Given the description of an element on the screen output the (x, y) to click on. 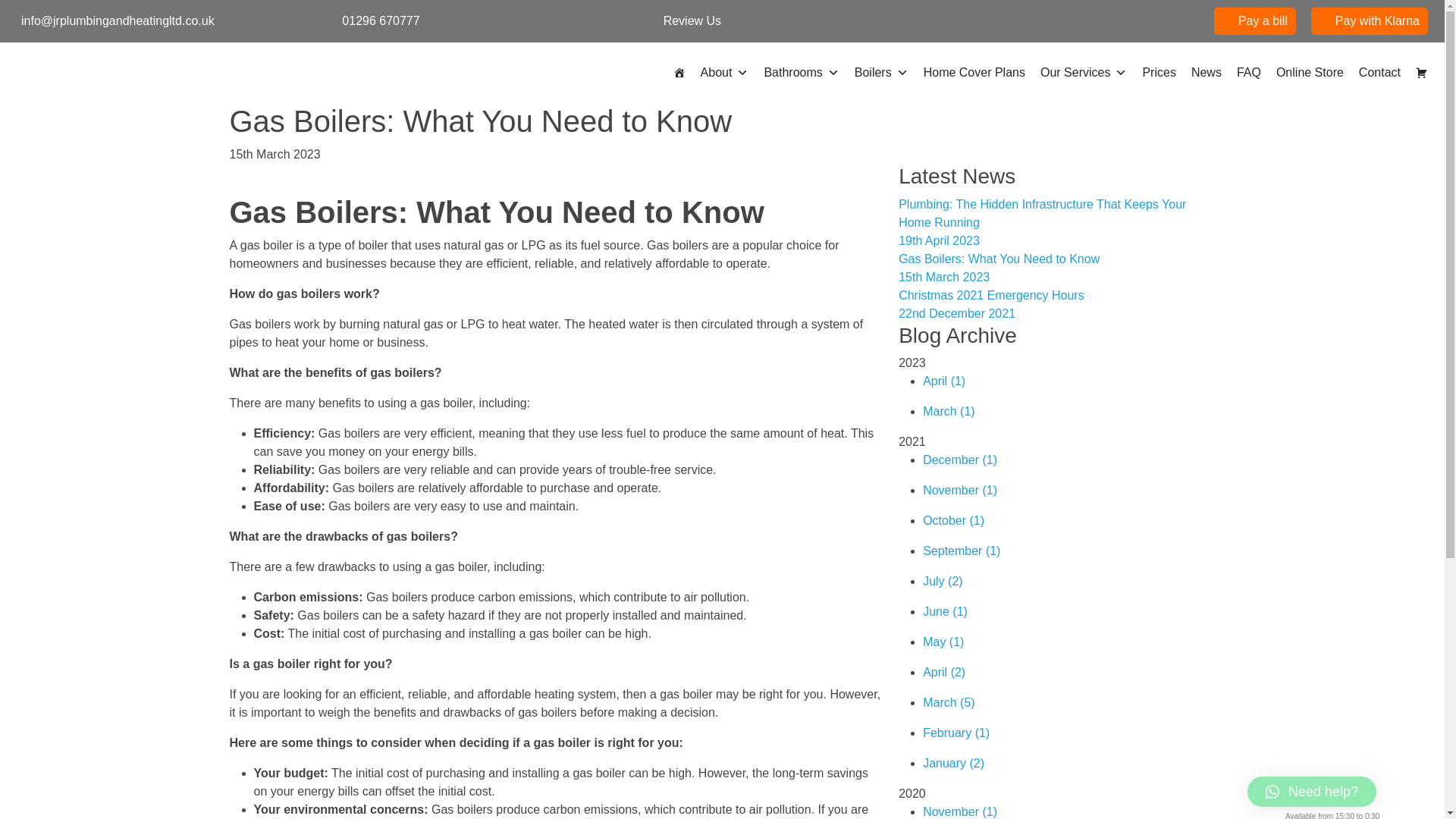
Home Cover Plans (973, 72)
Boilers (881, 72)
Review Us (794, 21)
Pay a bill (1254, 21)
About (725, 72)
Bathrooms (800, 72)
Our Services (1083, 72)
Pay with Klarna (1369, 21)
01296 670777 (473, 21)
